Given the description of an element on the screen output the (x, y) to click on. 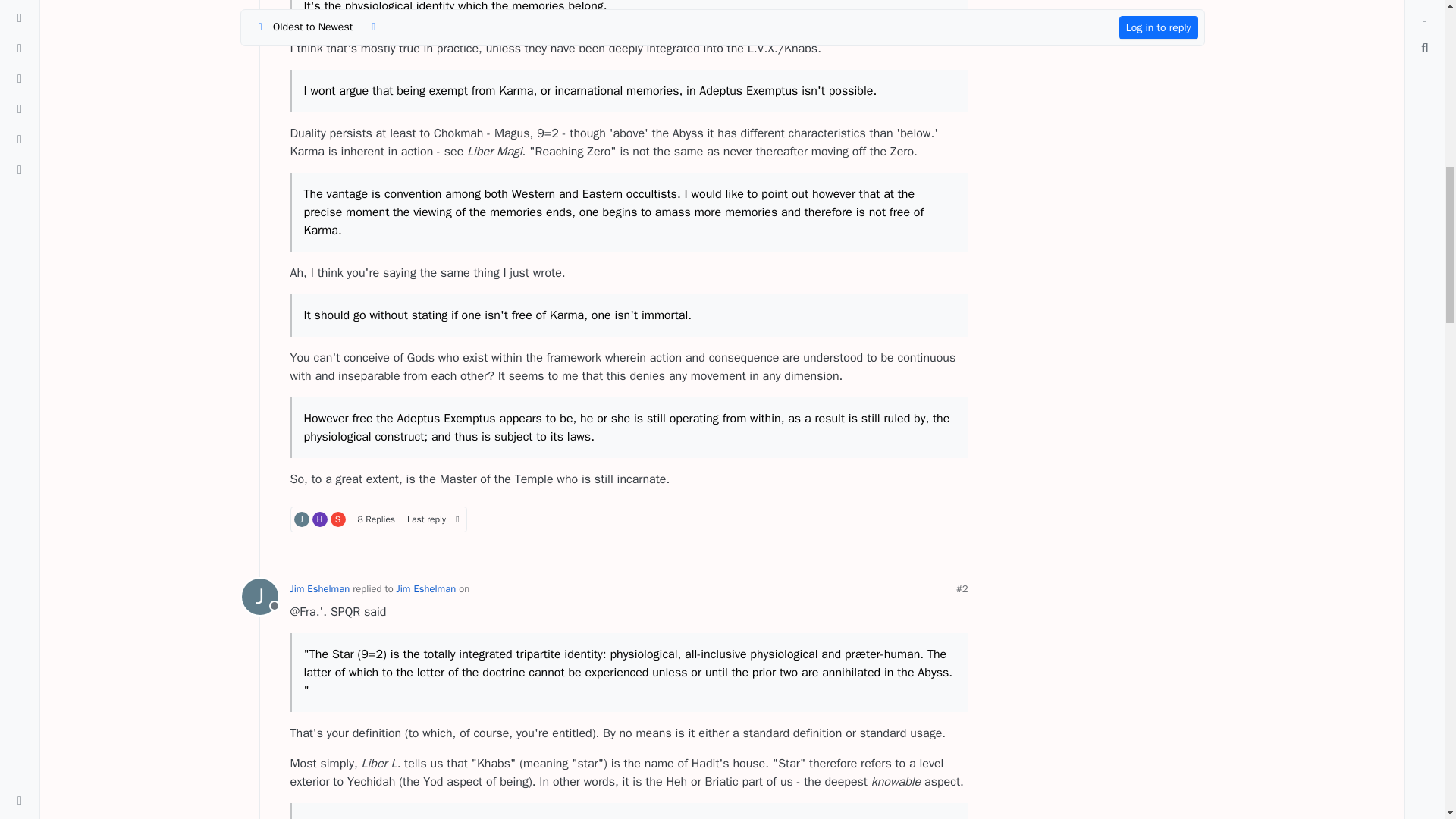
Expand (259, 596)
